Given the description of an element on the screen output the (x, y) to click on. 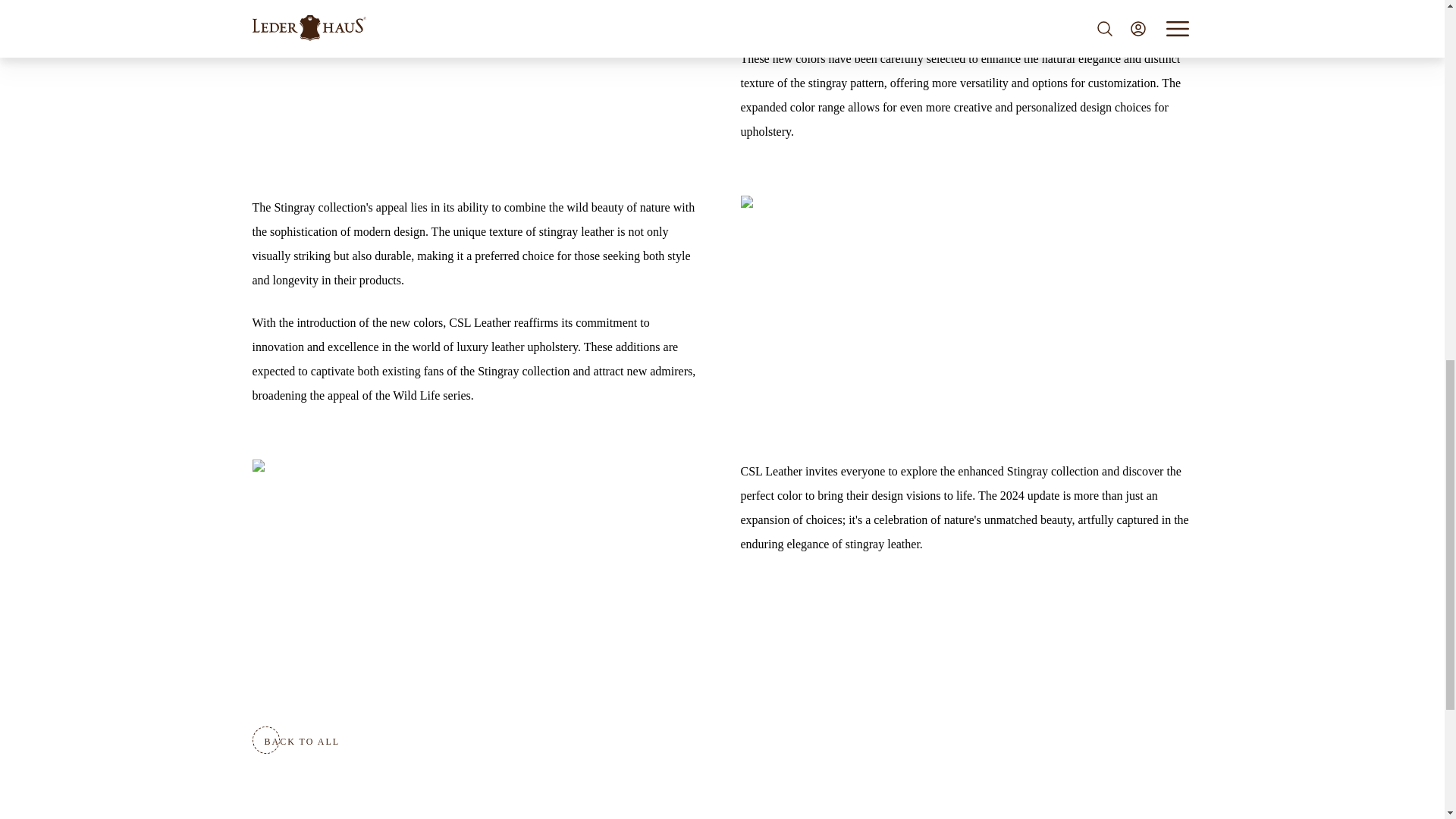
BACK TO ALL (301, 741)
Stingray collection (1053, 471)
The Stingray collection's (311, 206)
